Given the description of an element on the screen output the (x, y) to click on. 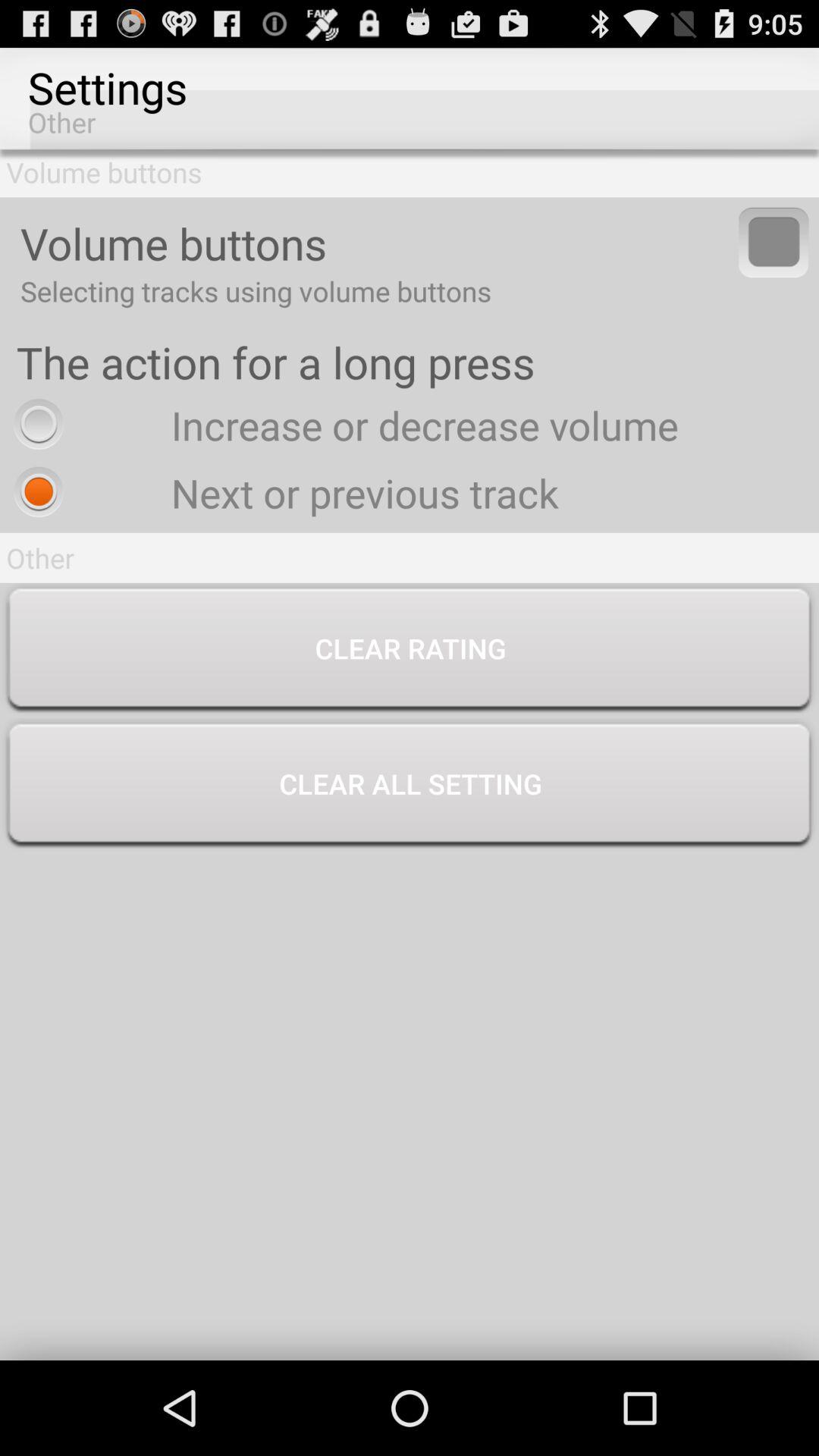
choose the app above other (282, 492)
